Given the description of an element on the screen output the (x, y) to click on. 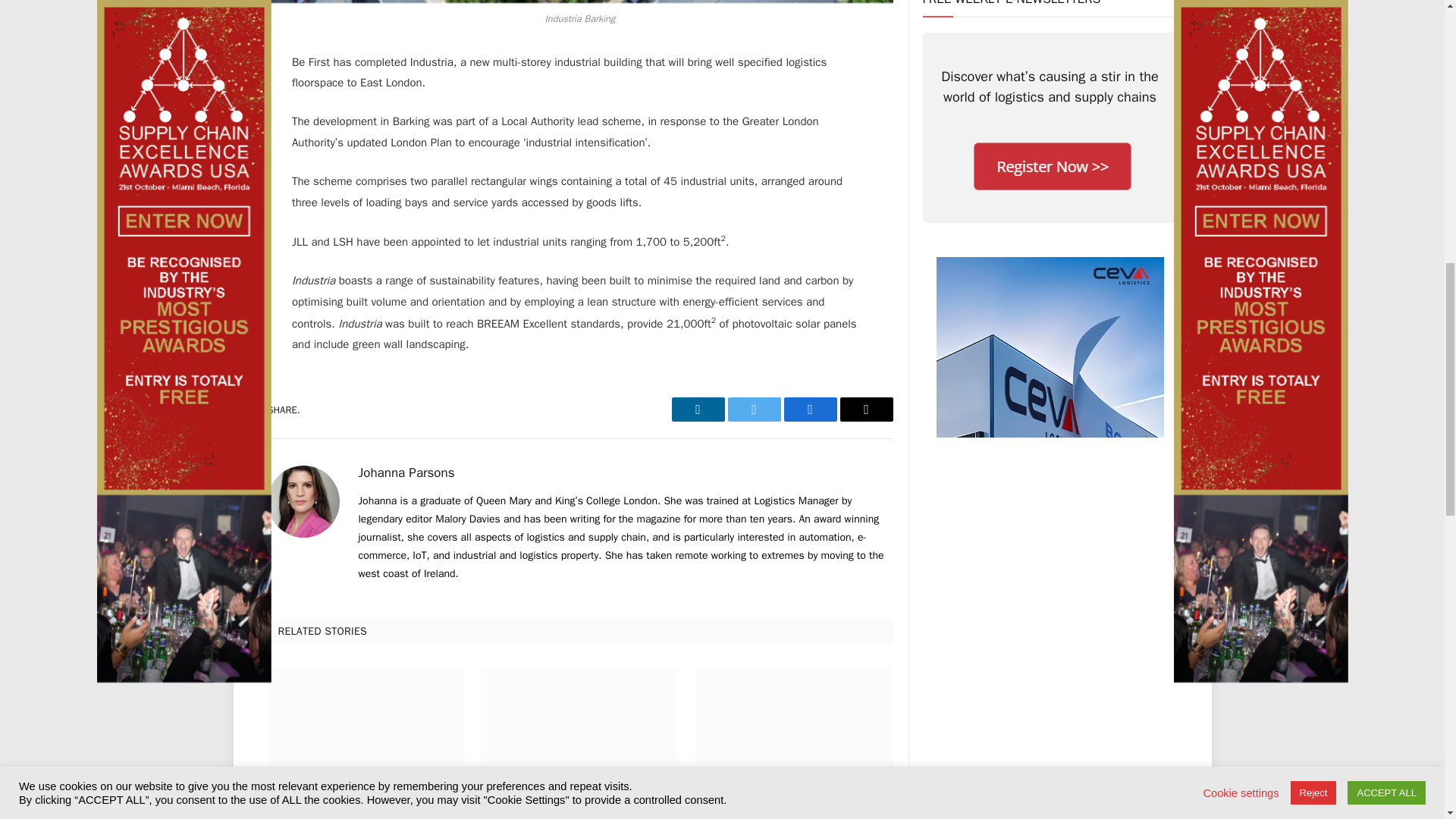
Share on LinkedIn (698, 409)
